Given the description of an element on the screen output the (x, y) to click on. 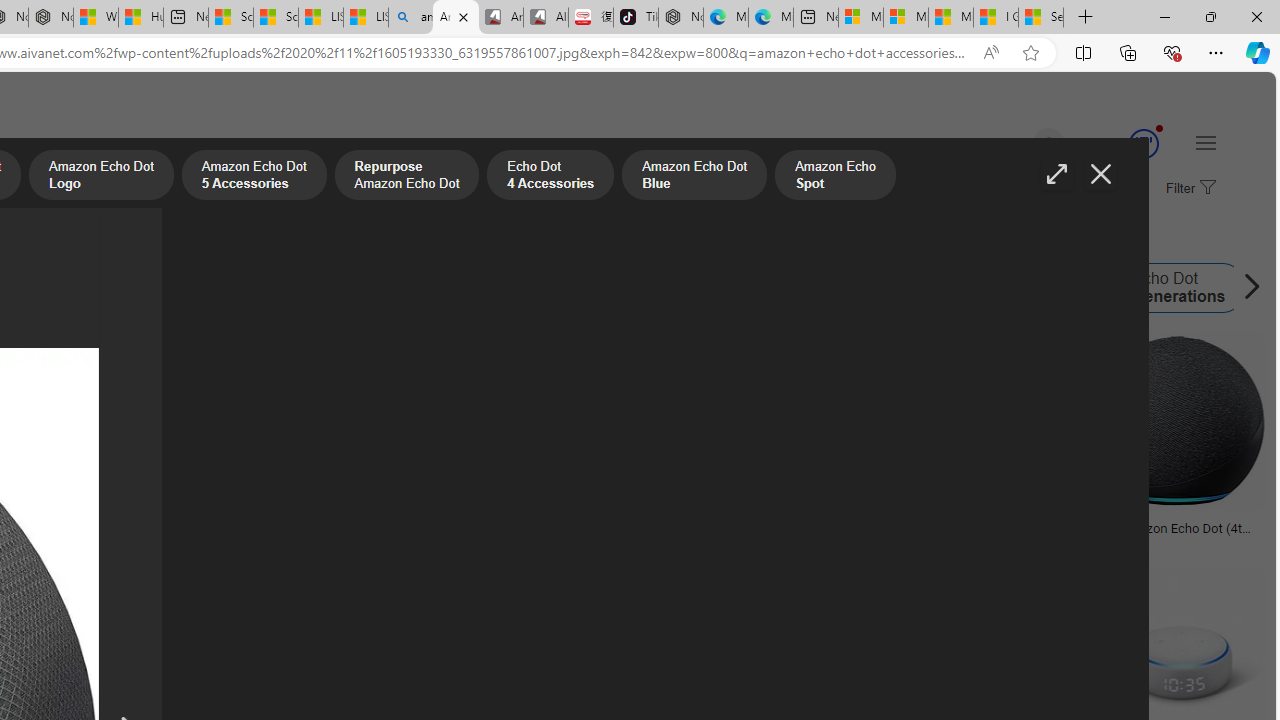
Amazon Echo Spot (770, 287)
Amazon Echo Plus (587, 287)
pnghq.com (49, 541)
Nordace - Summer Adventures 2024 (50, 17)
Alexa Echo Png Pic Png Arts Images (342, 528)
croma.com (1176, 542)
Nordace - Best Sellers (680, 17)
Amazon Echo Spot (708, 287)
Amazon Echo Dot 4th Gen (102, 287)
amazon - Search (410, 17)
